Given the description of an element on the screen output the (x, y) to click on. 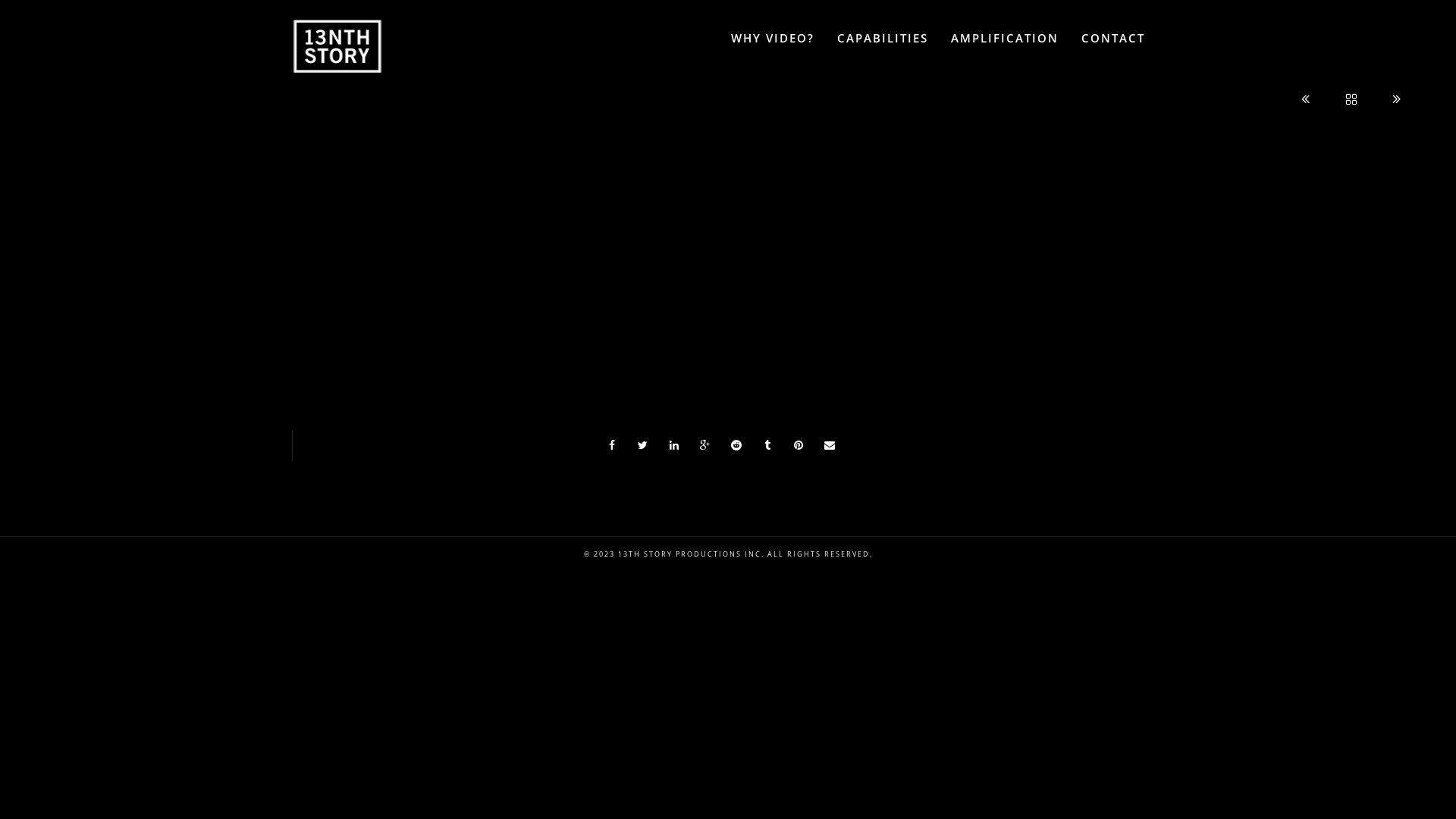
CAPABILITIES Element type: text (882, 37)
Previous Element type: hover (1307, 97)
AMPLIFICATION Element type: text (1004, 37)
Share Element type: hover (705, 444)
Gallery Element type: hover (1352, 97)
Share Element type: hover (798, 444)
Next Element type: hover (1396, 97)
CONTACT Element type: text (1113, 37)
Share Element type: hover (611, 444)
Share Element type: hover (673, 444)
Share Element type: hover (736, 444)
Share Element type: hover (642, 444)
Share Element type: hover (829, 444)
WHY VIDEO? Element type: text (772, 37)
Share Element type: hover (767, 444)
